Given the description of an element on the screen output the (x, y) to click on. 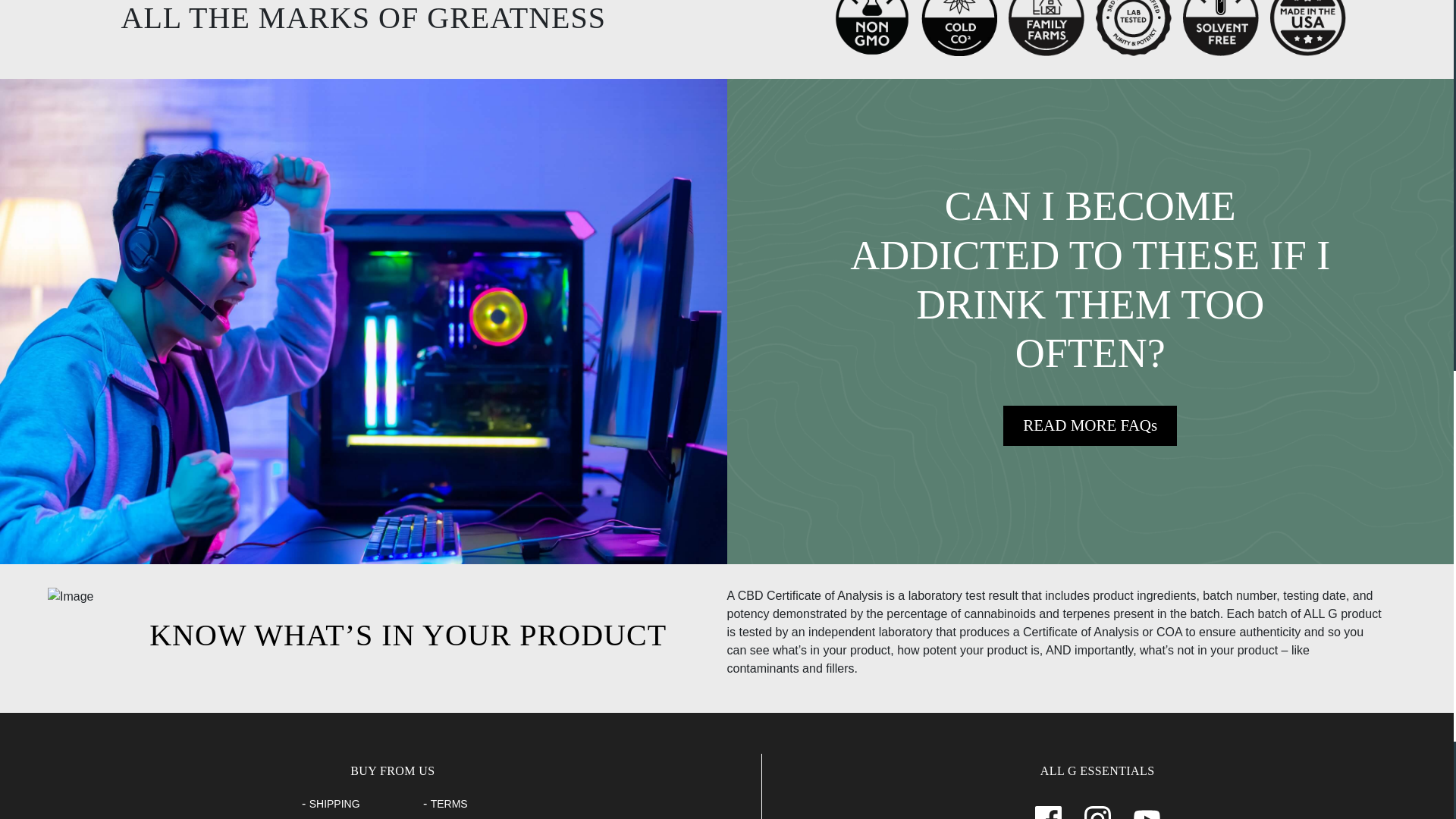
Shipping (333, 803)
READ MORE FAQs (1089, 425)
Terms (448, 803)
